Given the description of an element on the screen output the (x, y) to click on. 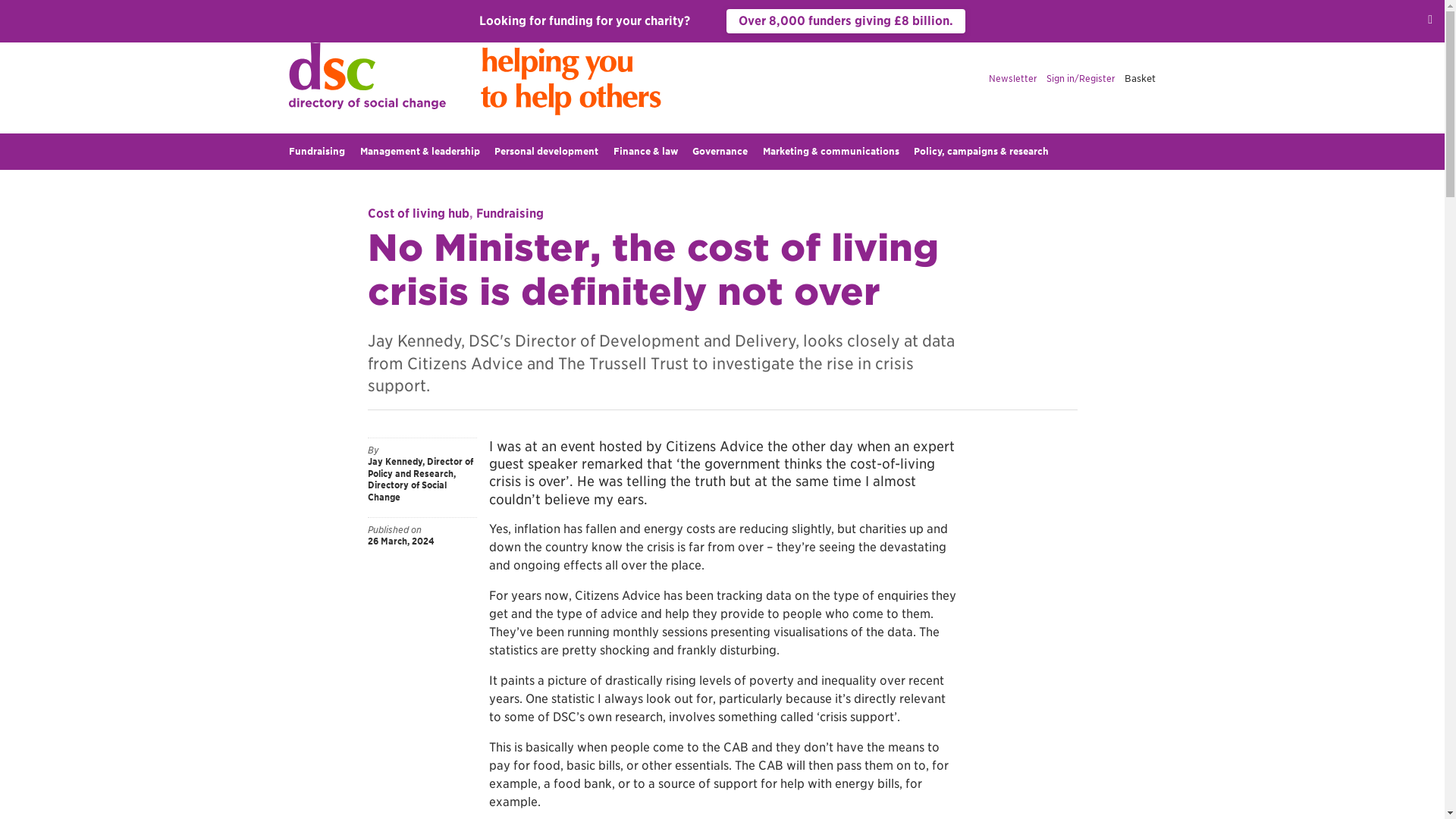
Blog (819, 12)
Governance (720, 151)
Go (1144, 12)
Research (708, 12)
Charity Training (553, 12)
Publications (439, 12)
Personal development (546, 151)
Cost of living hub (417, 213)
Home (301, 12)
Contact us (916, 12)
